Given the description of an element on the screen output the (x, y) to click on. 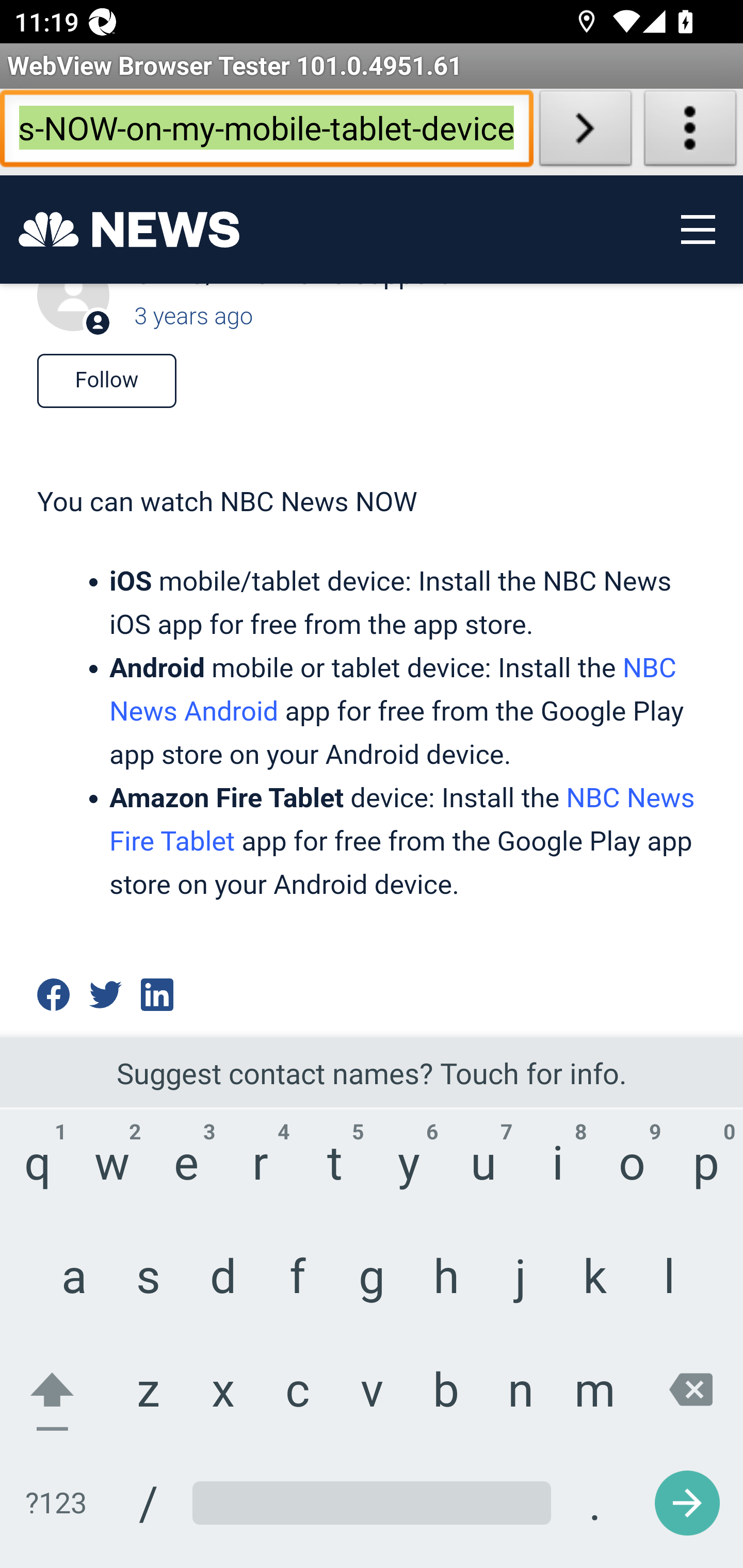
Load URL (585, 132)
About WebView (690, 132)
?icid=nav_bar_logo (128, 230)
Follow Article Not yet followed by anyone (106, 382)
NBC News Android (392, 690)
NBC News Fire Tablet (401, 820)
Facebook Share this page on Facebook (52, 995)
Twitter Share this page on X Corp (105, 995)
LinkedIn Share this page on LinkedIn (157, 995)
